Given the description of an element on the screen output the (x, y) to click on. 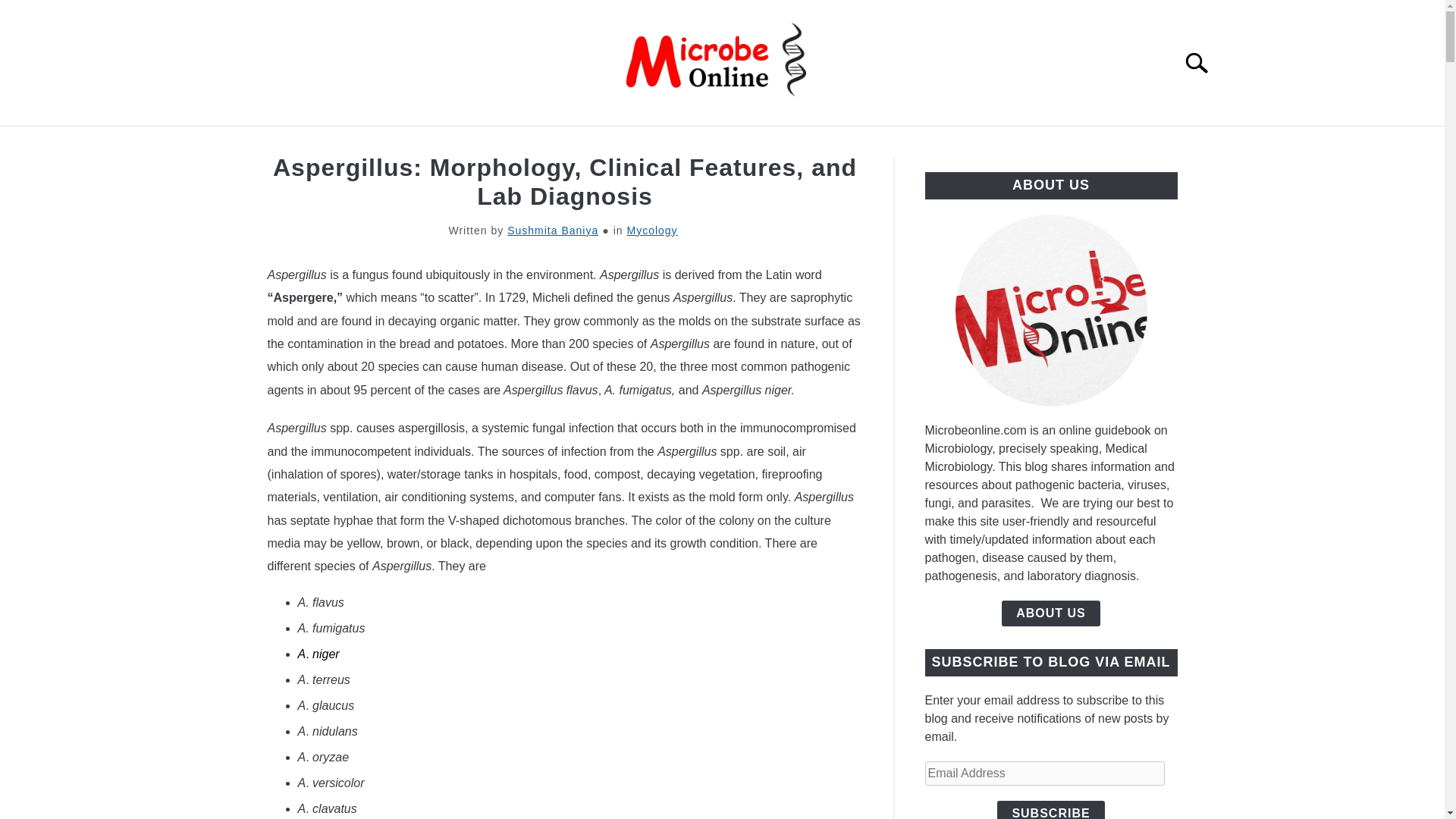
MOLECULAR BIOLOGY (1064, 143)
GENERAL MICROBIOLOGY (394, 143)
IMMUNOLOGY (911, 143)
Sushmita Baniya (552, 230)
CLINICAL MICROBIOLOGY (603, 143)
LAB EQUIPMENT (777, 143)
Search (1203, 62)
Mycology (651, 230)
